Given the description of an element on the screen output the (x, y) to click on. 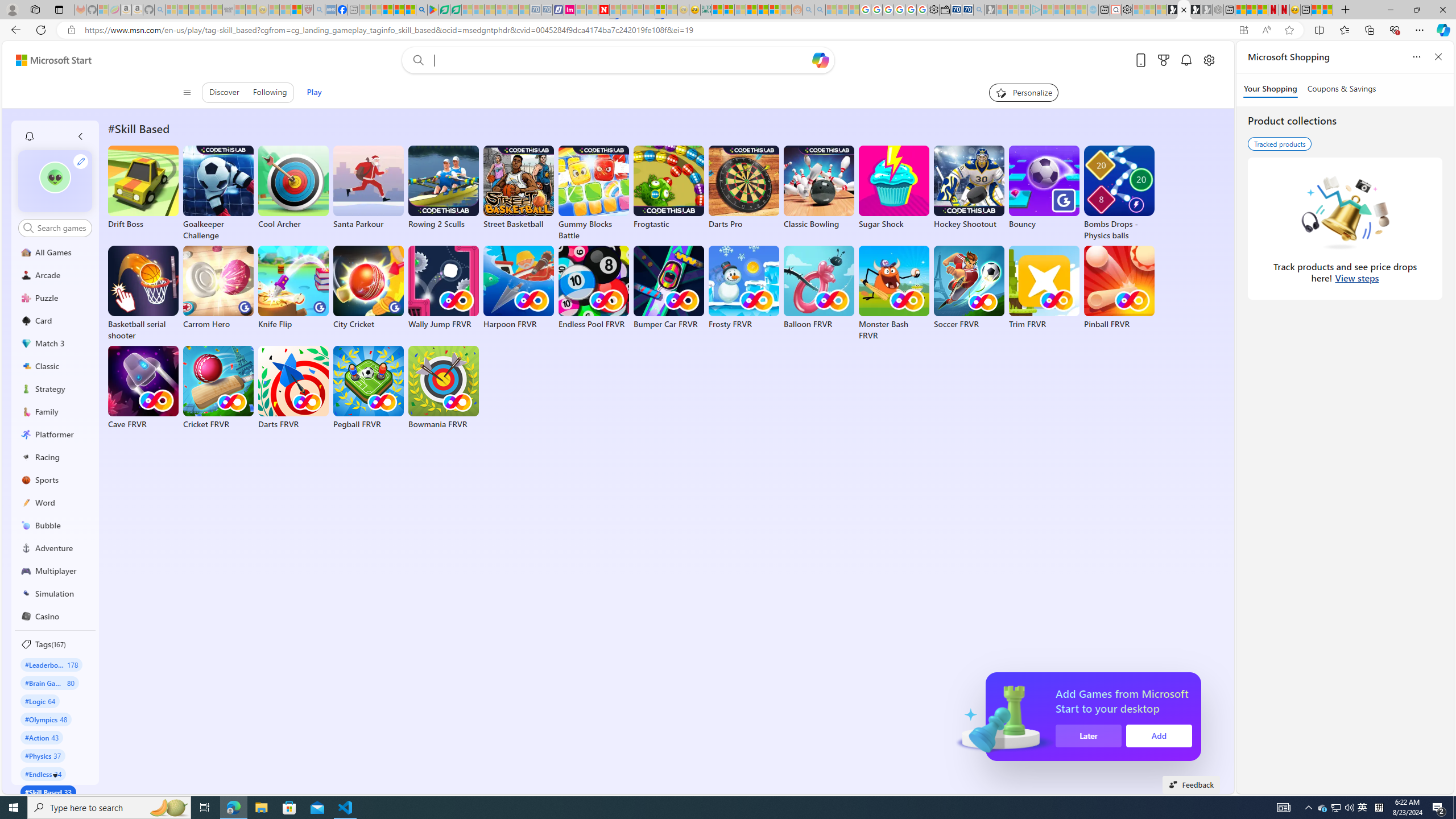
Wildlife - MSN (1316, 9)
Harpoon FRVR (518, 287)
Add (1158, 736)
Bluey: Let's Play! - Apps on Google Play (433, 9)
